Given the description of an element on the screen output the (x, y) to click on. 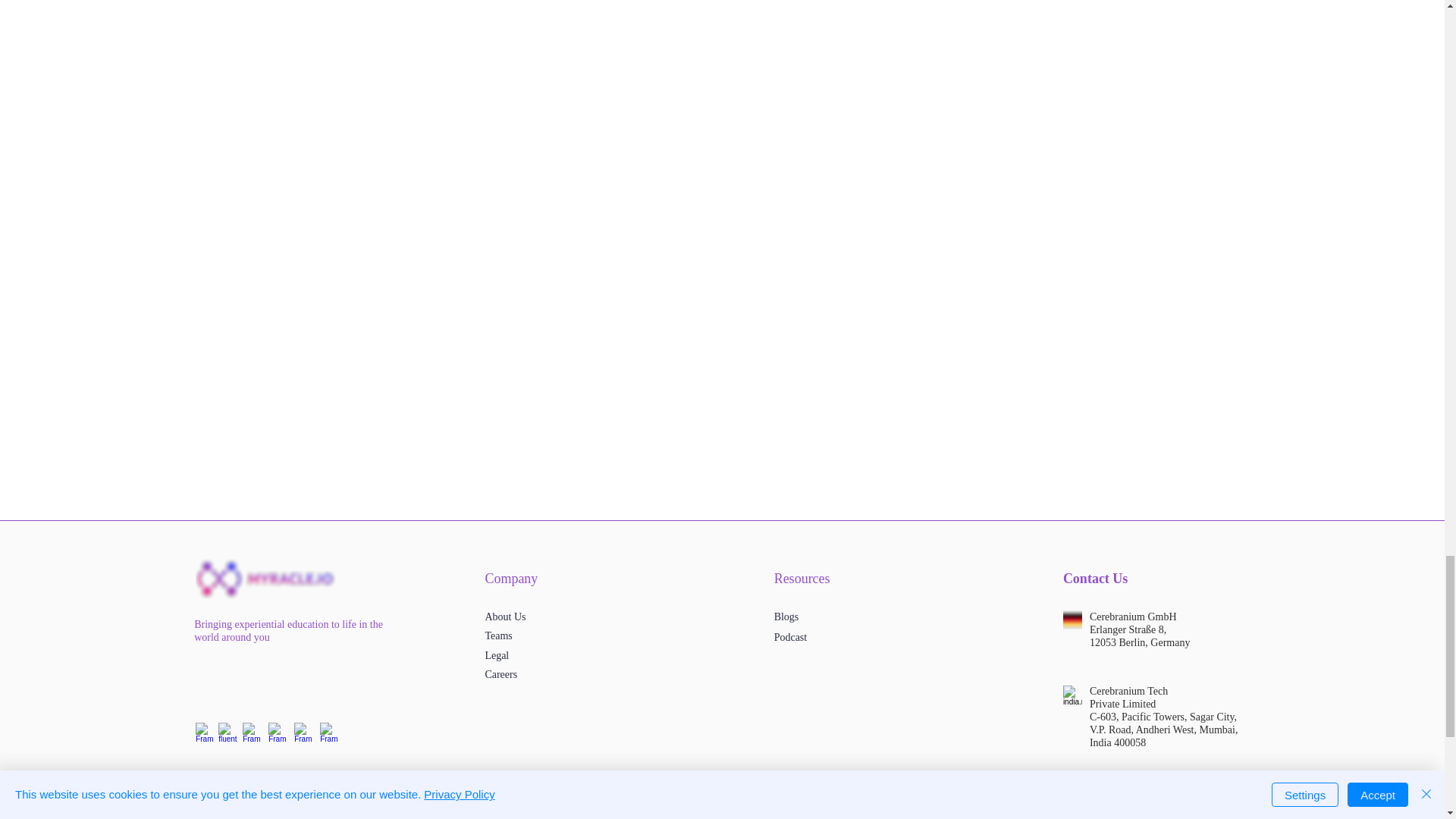
Teams (498, 635)
Legal (496, 654)
About Us (504, 616)
Careers (500, 674)
Blogs (786, 616)
